Given the description of an element on the screen output the (x, y) to click on. 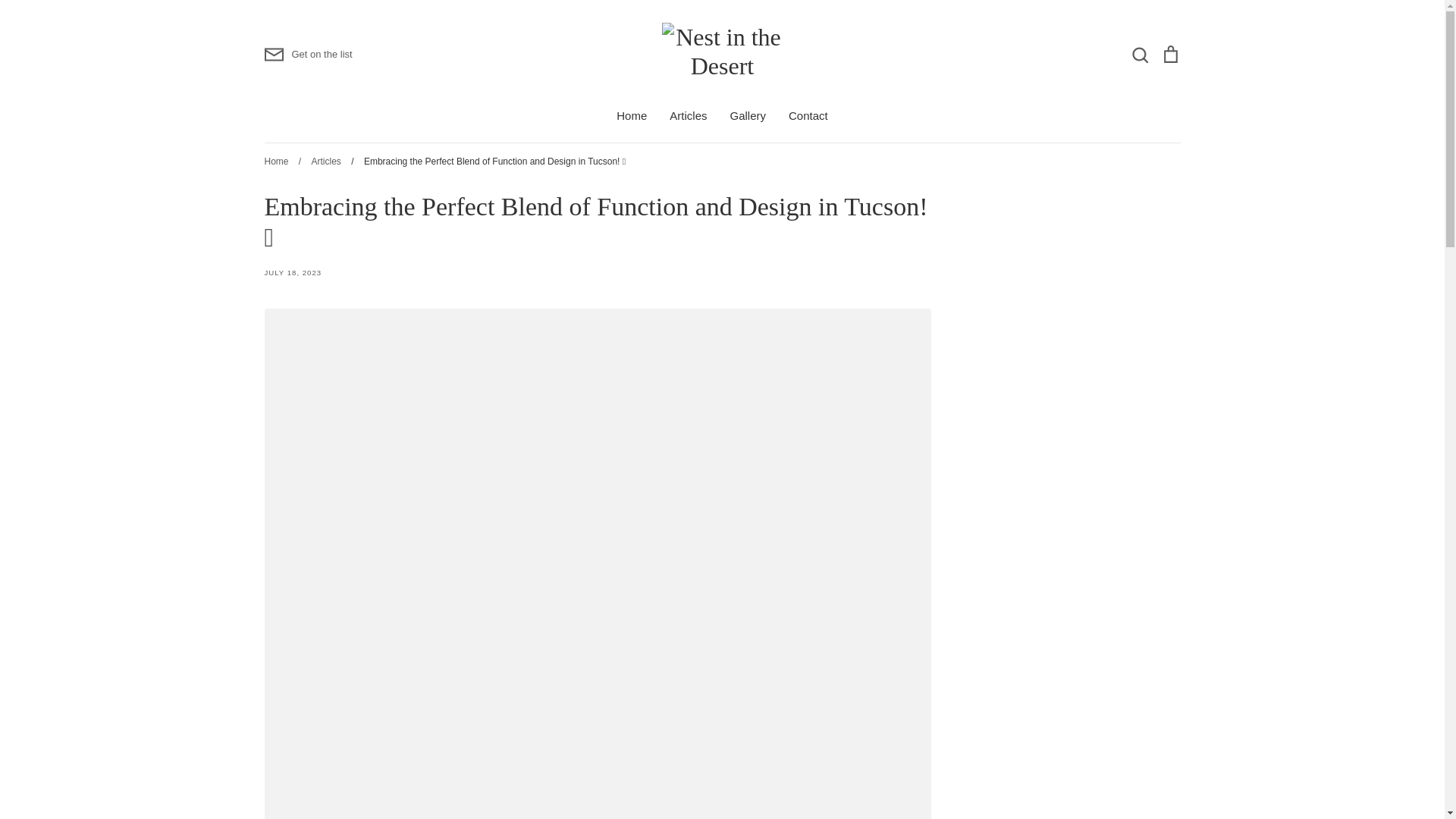
Get on the list (307, 54)
Search (1139, 54)
Cart (1169, 54)
Home (630, 115)
